Given the description of an element on the screen output the (x, y) to click on. 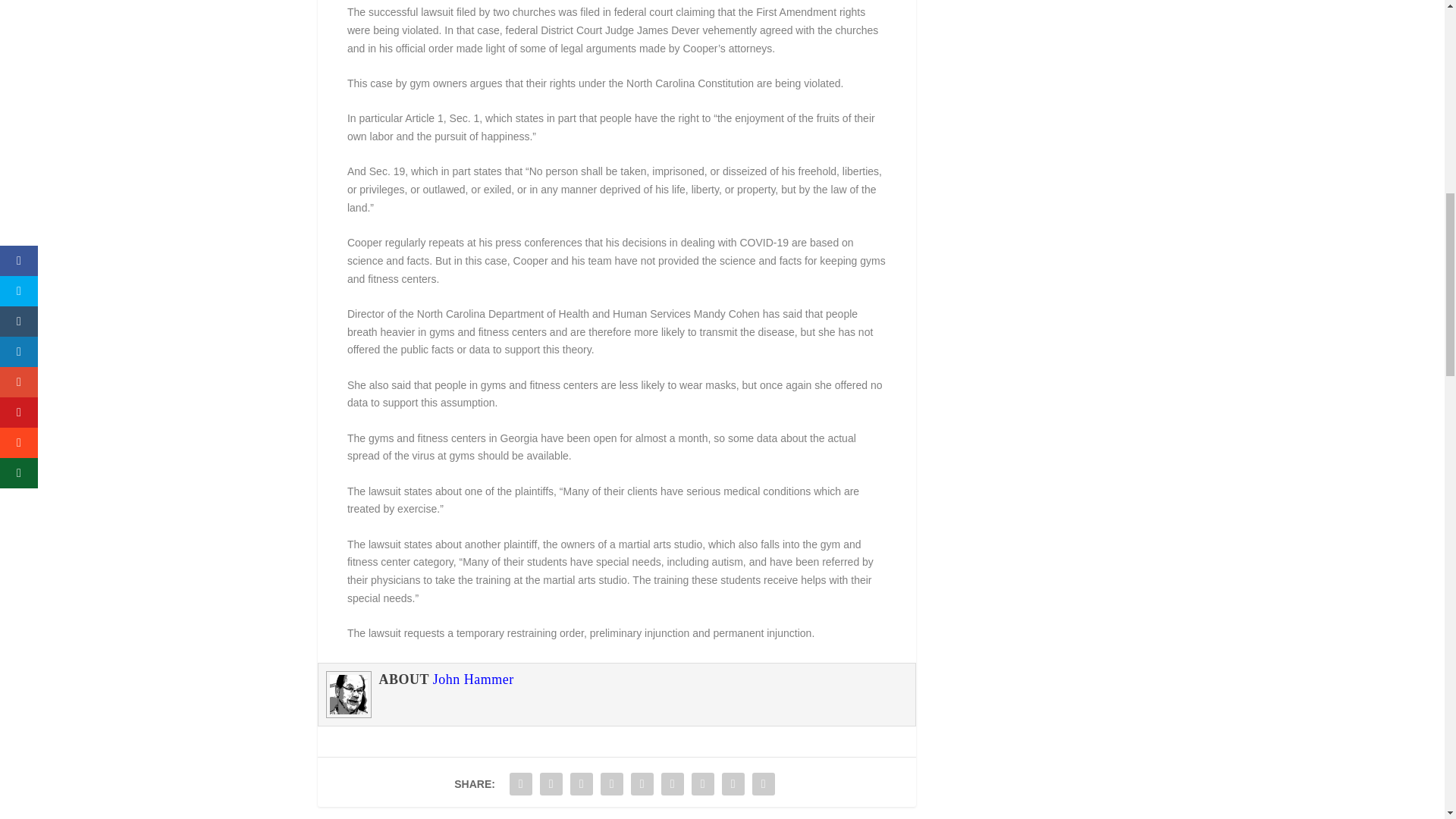
John Hammer (472, 679)
